Given the description of an element on the screen output the (x, y) to click on. 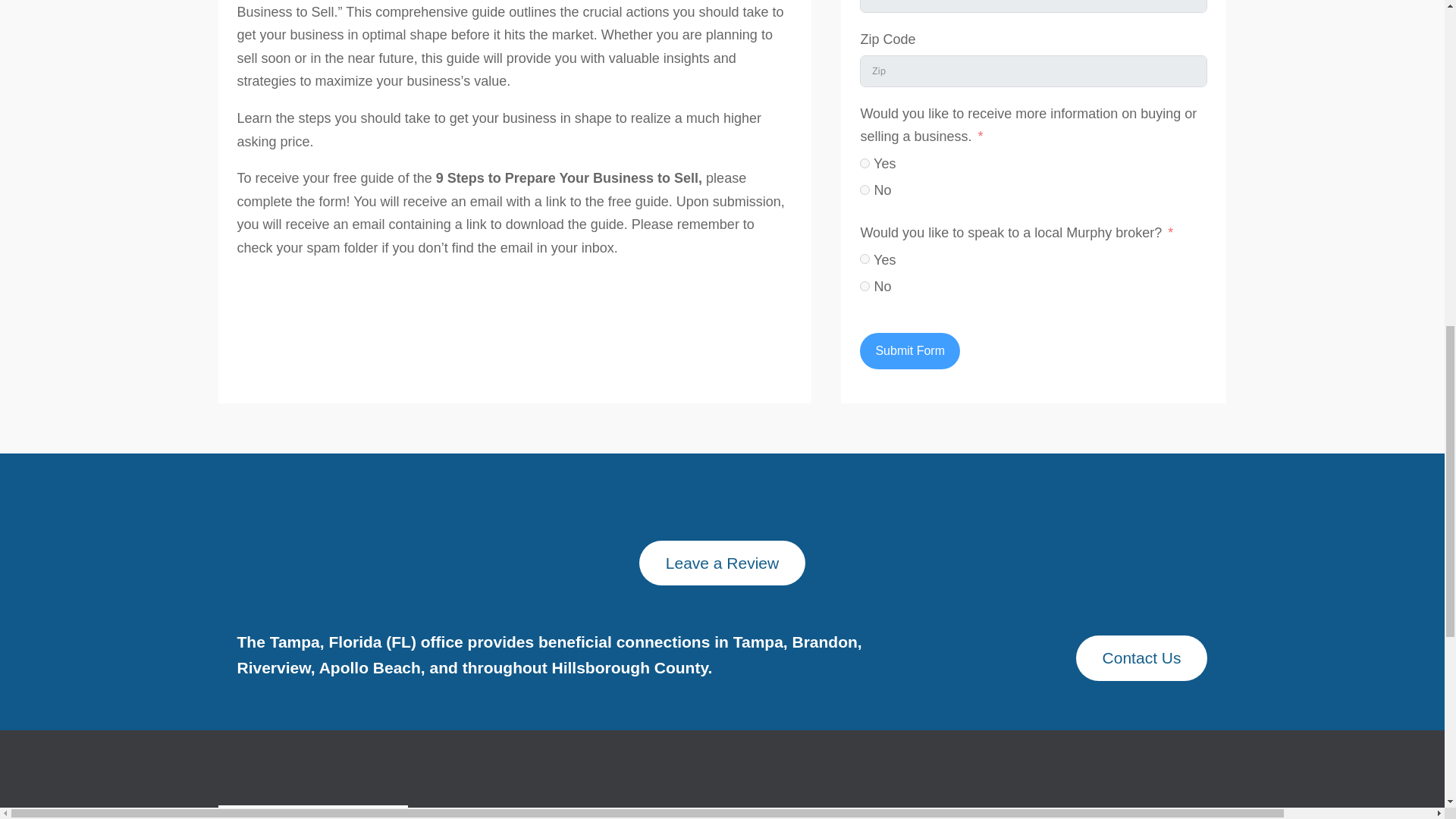
no (864, 189)
yes (864, 162)
no (864, 286)
yes (864, 258)
